Given the description of an element on the screen output the (x, y) to click on. 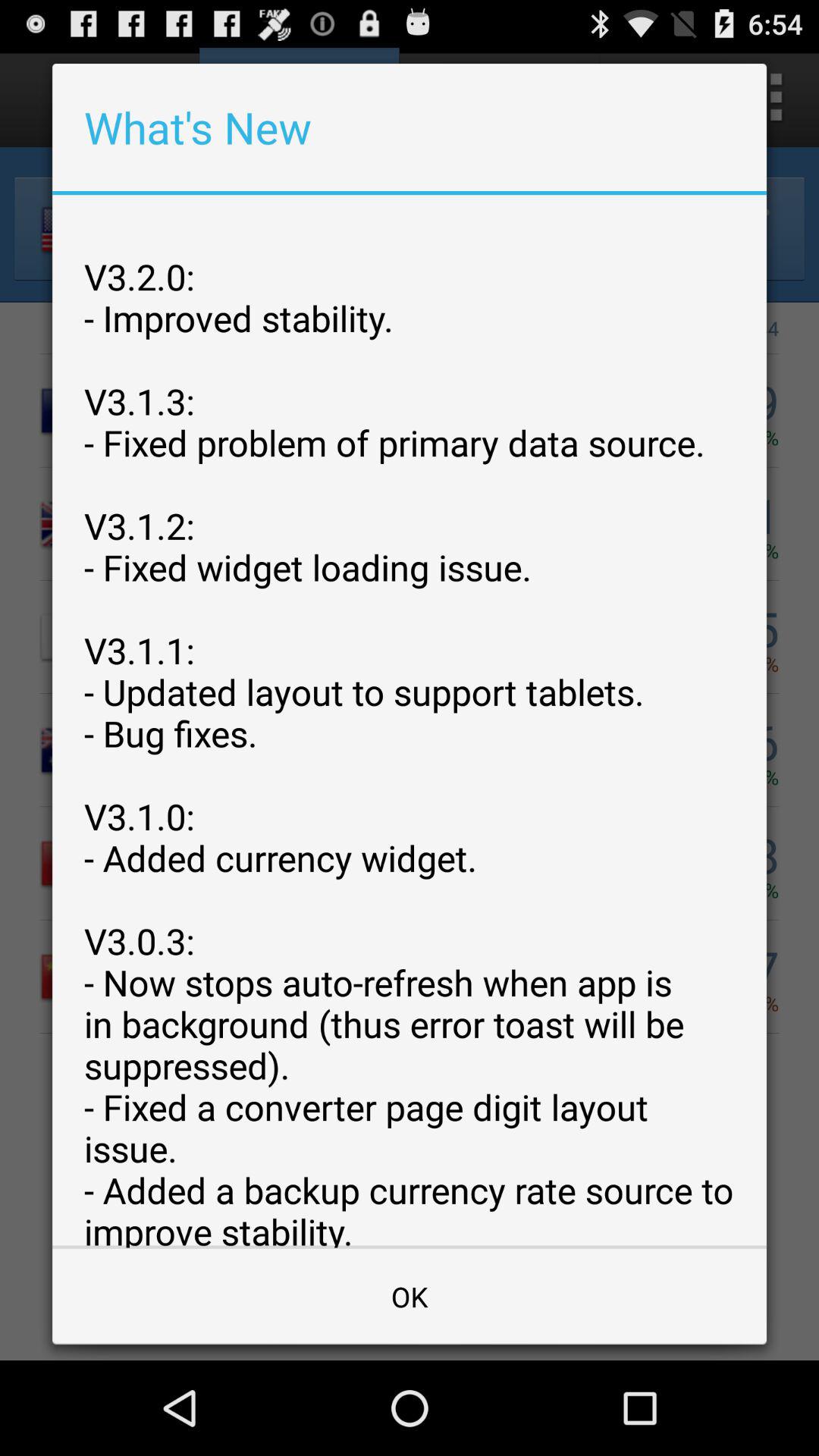
open ok icon (409, 1296)
